Given the description of an element on the screen output the (x, y) to click on. 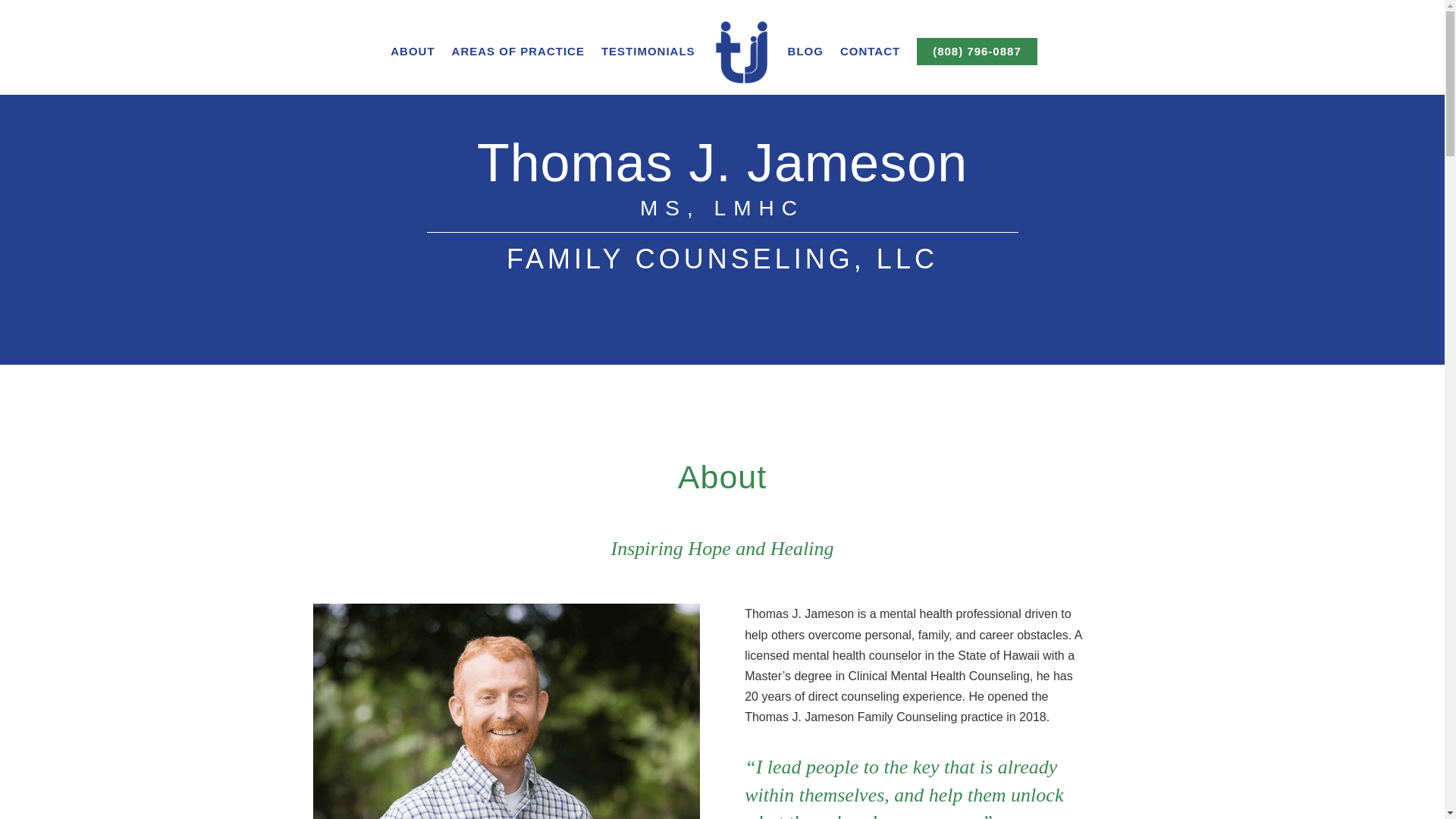
ABOUT (411, 70)
TESTIMONIALS (648, 70)
AREAS OF PRACTICE (518, 70)
CONTACT (869, 70)
Thomas J. Jameson (505, 711)
